Given the description of an element on the screen output the (x, y) to click on. 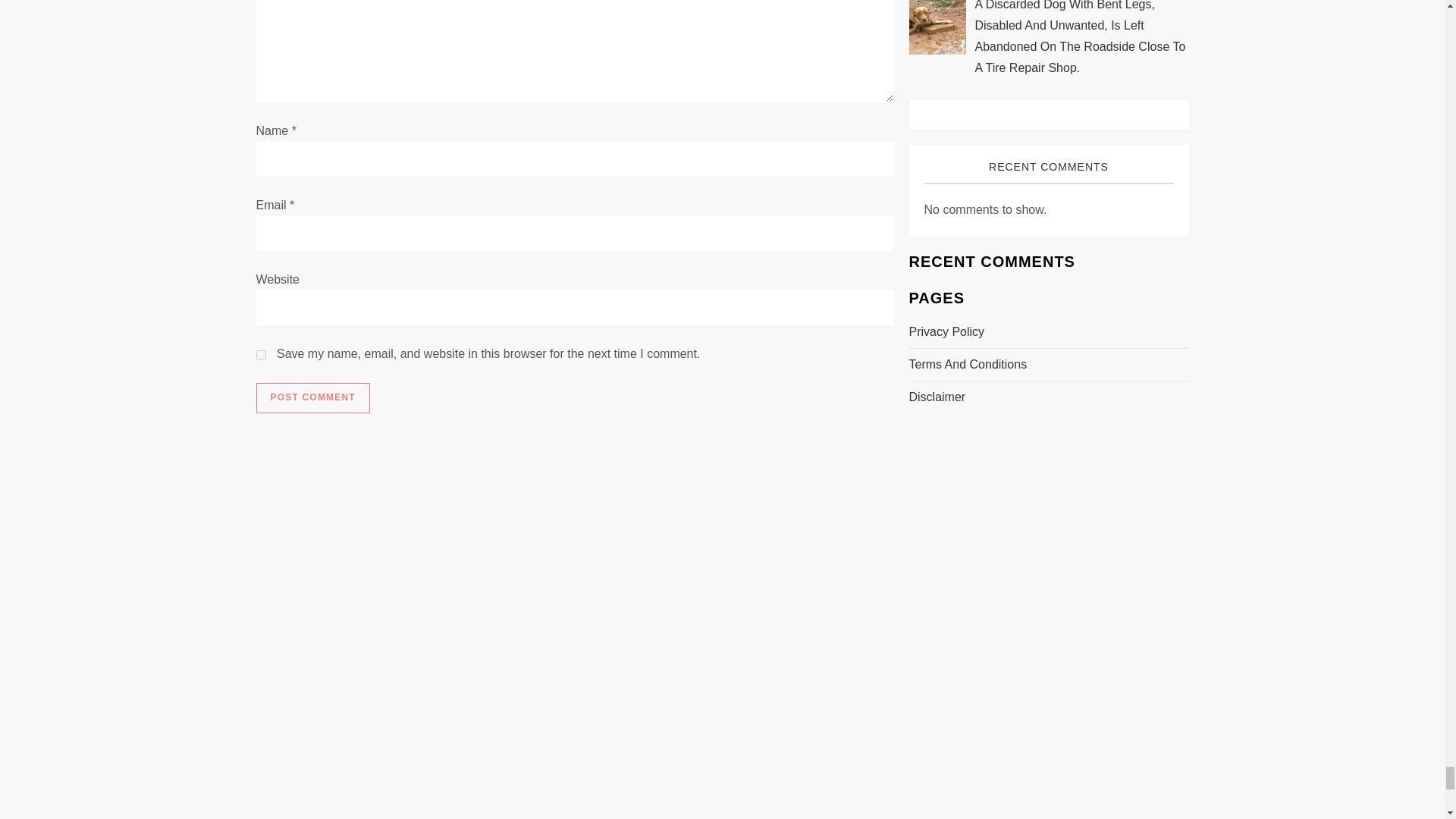
Post Comment (312, 398)
yes (261, 355)
Post Comment (312, 398)
